Given the description of an element on the screen output the (x, y) to click on. 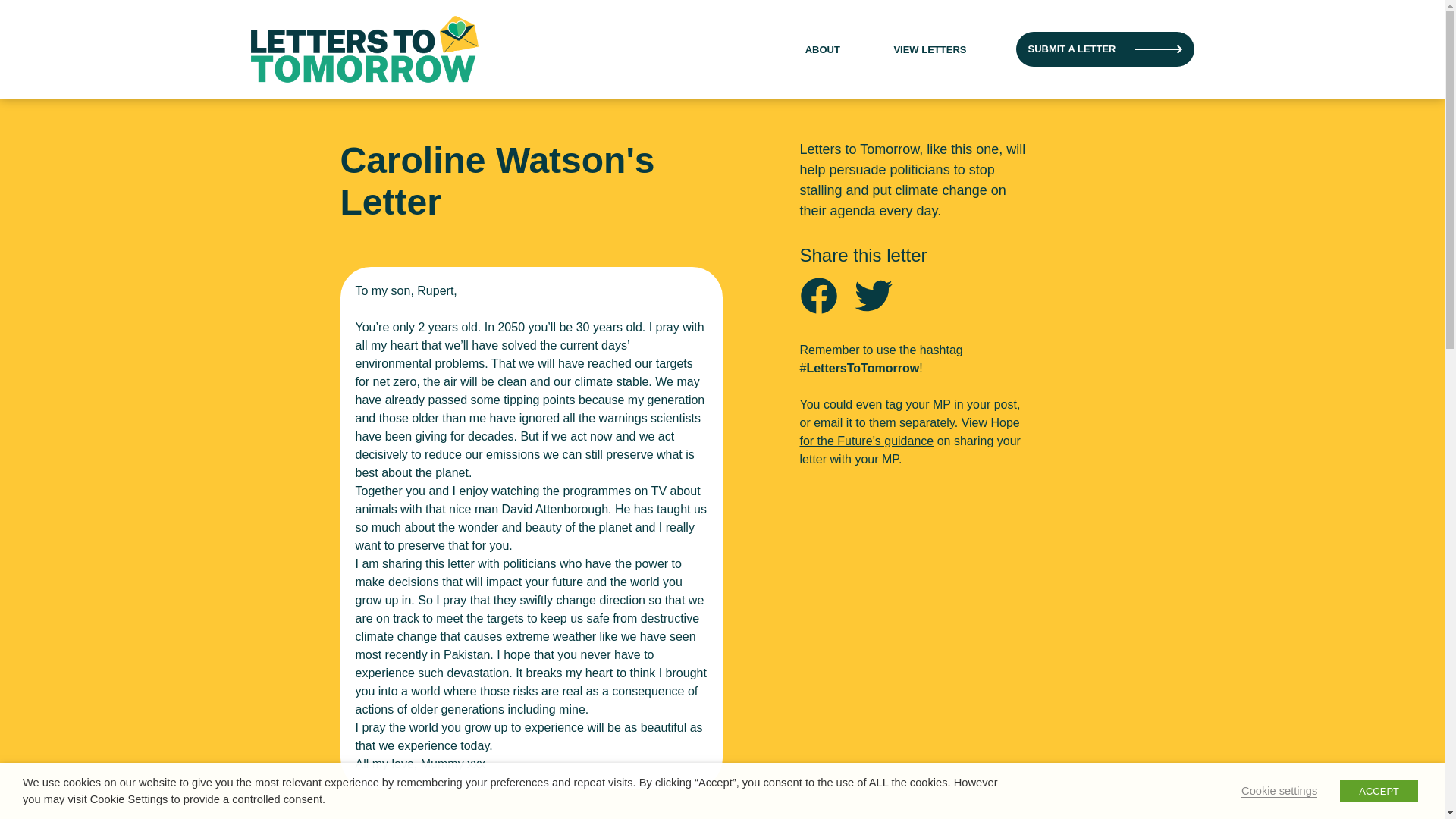
SUBMIT A LETTER (1104, 48)
ACCEPT (1378, 790)
Cookie settings (1279, 790)
ABOUT (822, 49)
VIEW LETTERS (929, 49)
